Given the description of an element on the screen output the (x, y) to click on. 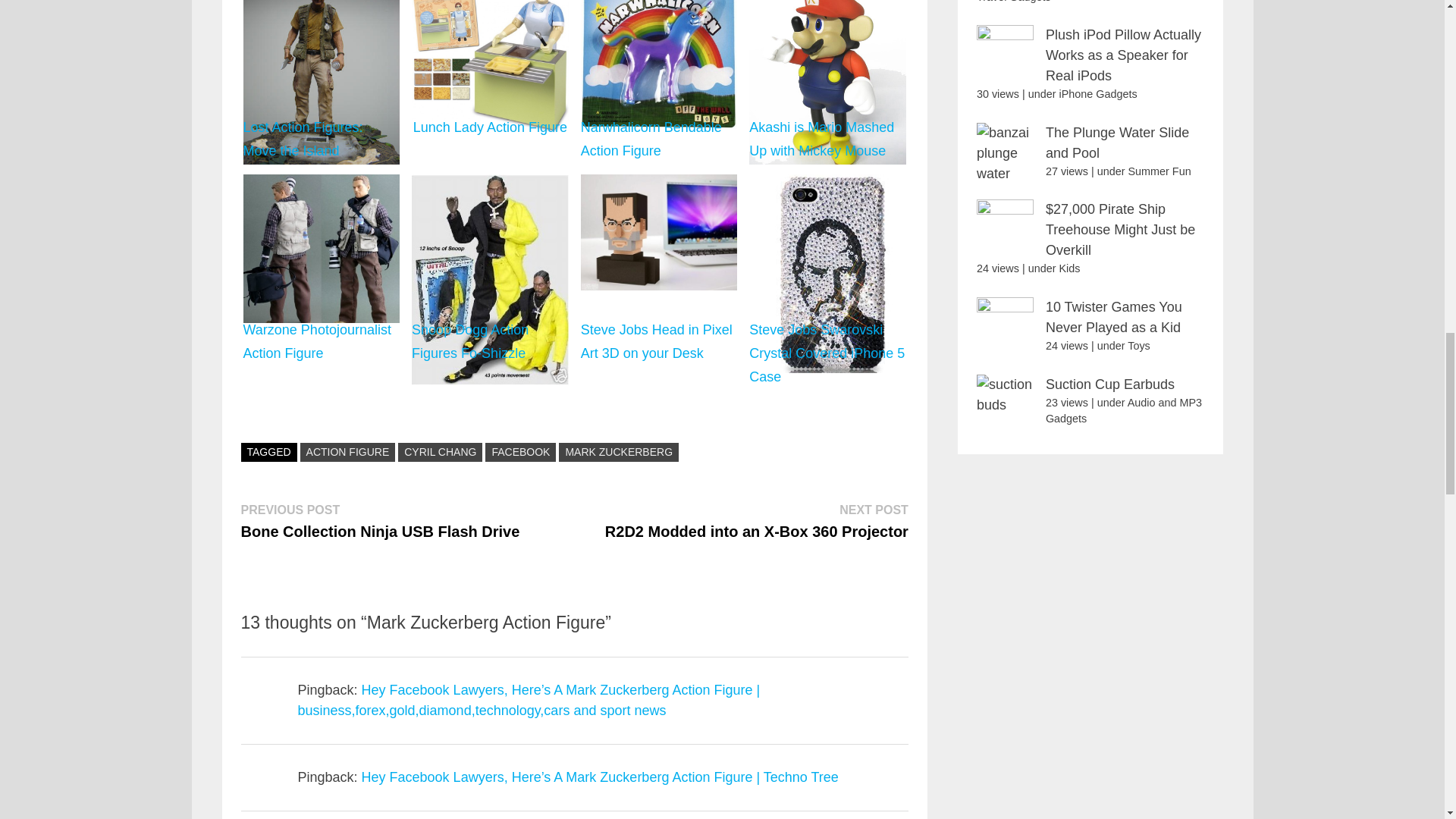
Lost Action Figures: Move the Island (322, 82)
Lunch Lady Action Figure (489, 82)
Narwhalicorn Bendable Action Figure (658, 82)
Incredible Action Figure Lamp (320, 6)
ACTION FIGURE (347, 452)
FACEBOOK (520, 452)
MARK ZUCKERBERG (618, 452)
CYRIL CHANG (439, 452)
Akashi is Mario Mashed Up with Mickey Mouse (827, 82)
